Given the description of an element on the screen output the (x, y) to click on. 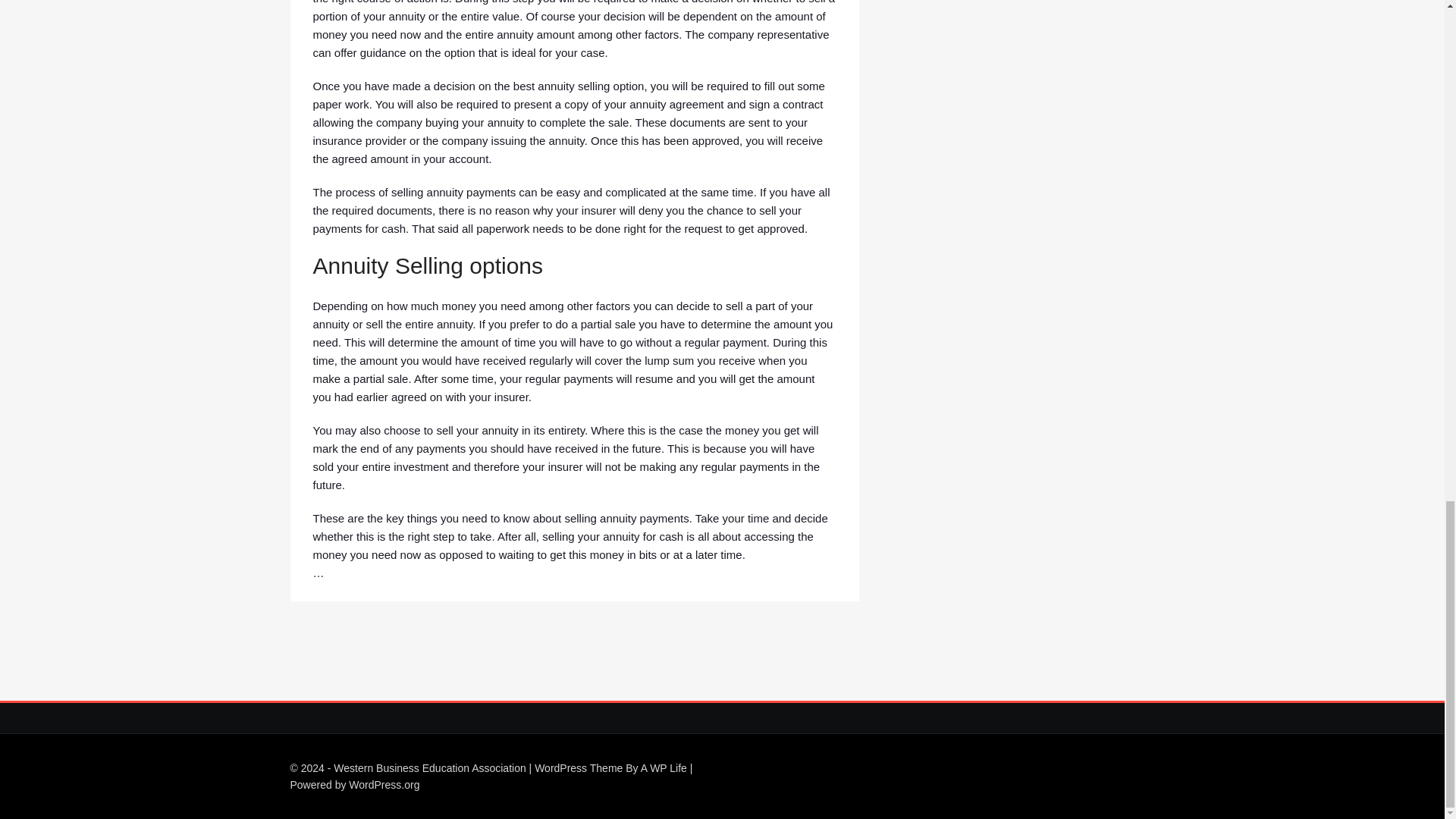
WordPress.org (384, 784)
A WP Life (663, 767)
